Given the description of an element on the screen output the (x, y) to click on. 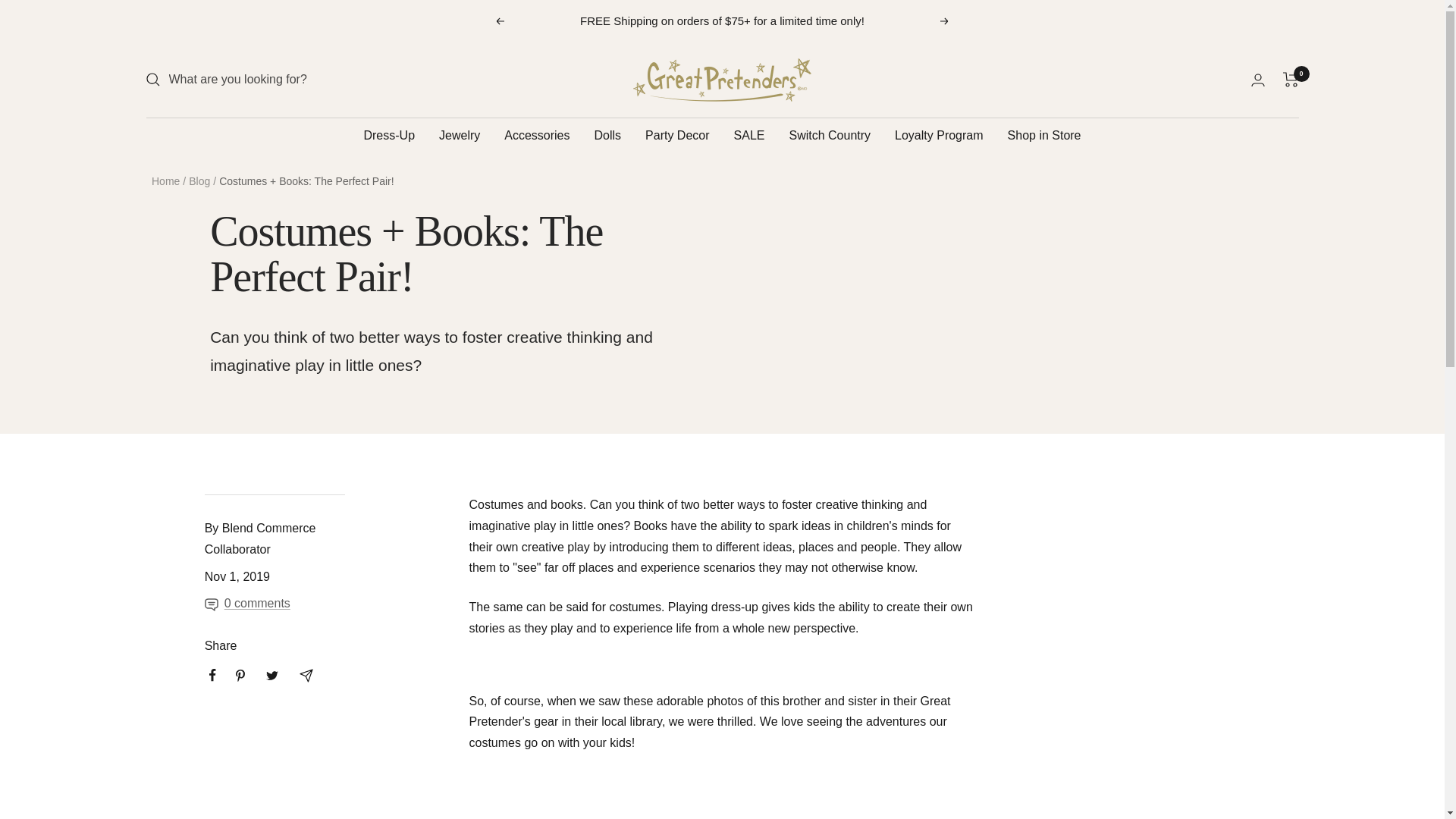
Jewelry (459, 135)
Home (165, 181)
Previous (499, 21)
Dolls (607, 135)
Dress-Up (388, 135)
Switch Country (829, 135)
Loyalty Program (939, 135)
0 comments (275, 603)
Shop in Store (1044, 135)
Blog (199, 181)
0 (1290, 79)
SALE (749, 135)
Accessories (536, 135)
Great Pretenders USA (721, 79)
Next (944, 21)
